Given the description of an element on the screen output the (x, y) to click on. 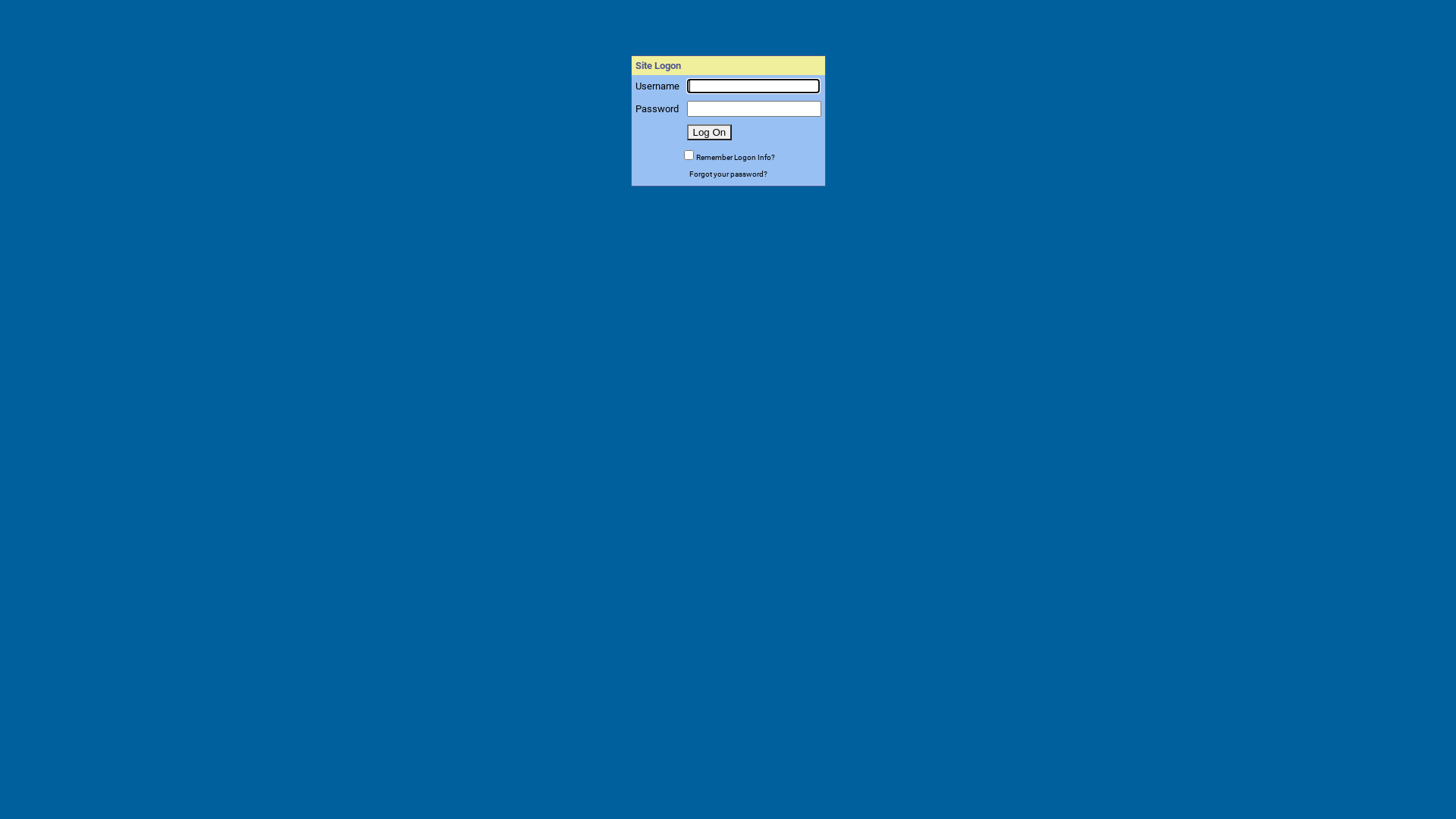
Forgot your password? Element type: text (727, 172)
Log On Element type: text (709, 132)
set_cookie Element type: text (688, 155)
